Given the description of an element on the screen output the (x, y) to click on. 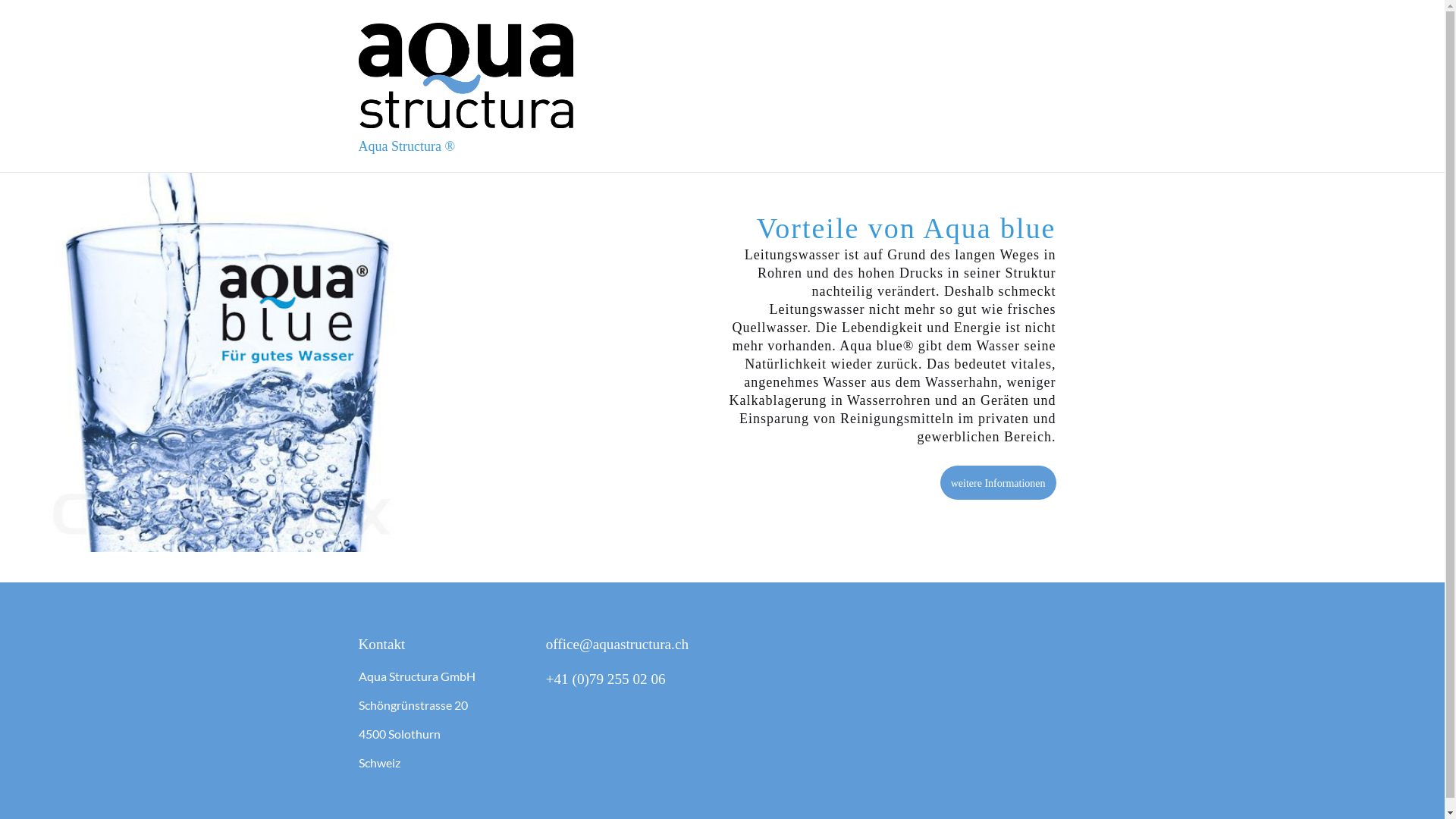
office@aquastructura.ch Element type: text (617, 644)
weitere Informationen Element type: text (998, 482)
